Given the description of an element on the screen output the (x, y) to click on. 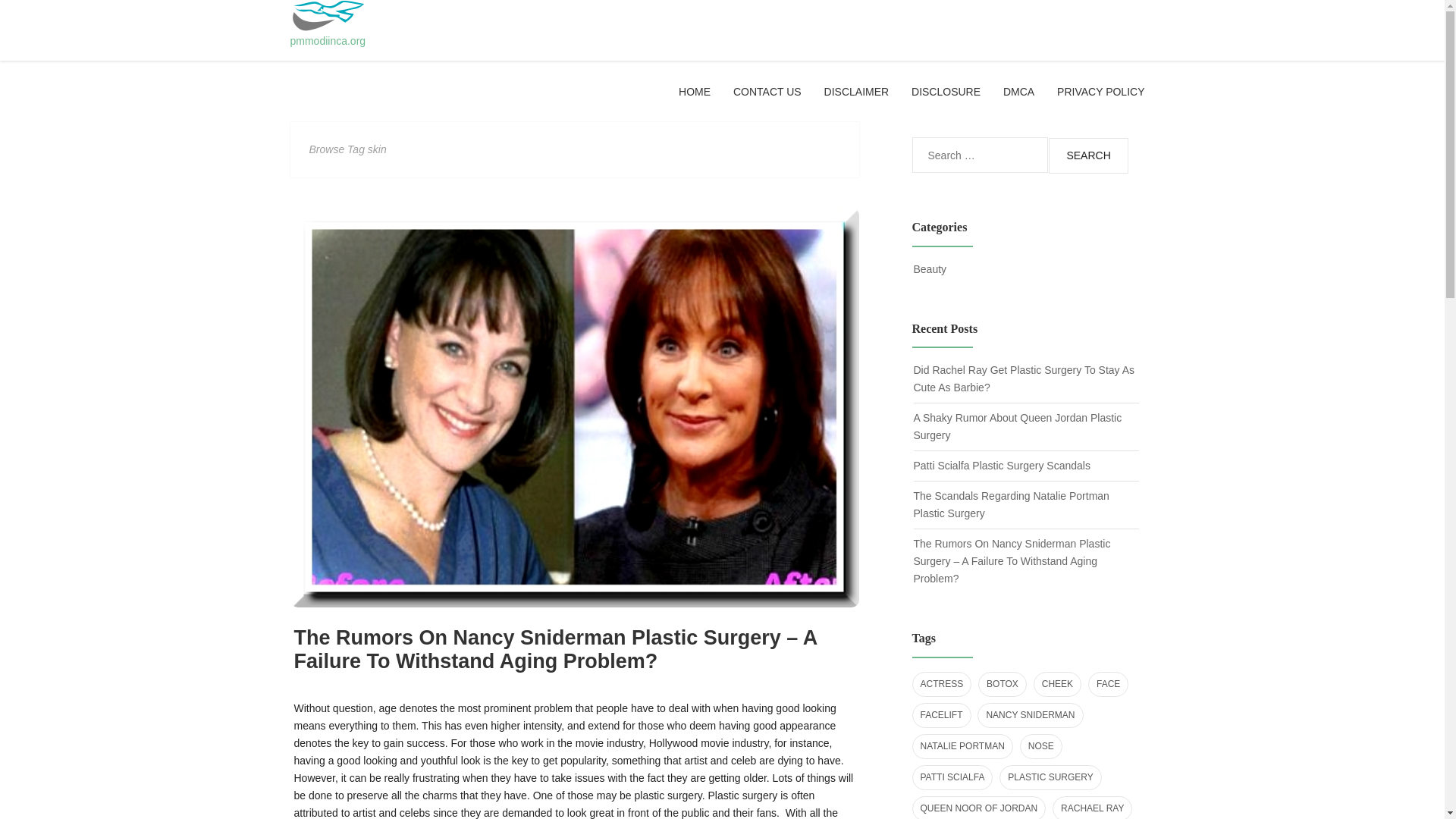
ACTRESS (941, 683)
Search (1087, 155)
NATALIE PORTMAN (961, 746)
DISCLAIMER (856, 91)
RACHAEL RAY (1092, 807)
Patti Scialfa Plastic Surgery Scandals (1000, 465)
A Shaky Rumor About Queen Jordan Plastic Surgery (1016, 426)
PRIVACY POLICY (1100, 91)
FACELIFT (941, 715)
PATTI SCIALFA (951, 777)
DISCLOSURE (945, 91)
Search (1087, 155)
BOTOX (1002, 683)
NOSE (1041, 746)
